Given the description of an element on the screen output the (x, y) to click on. 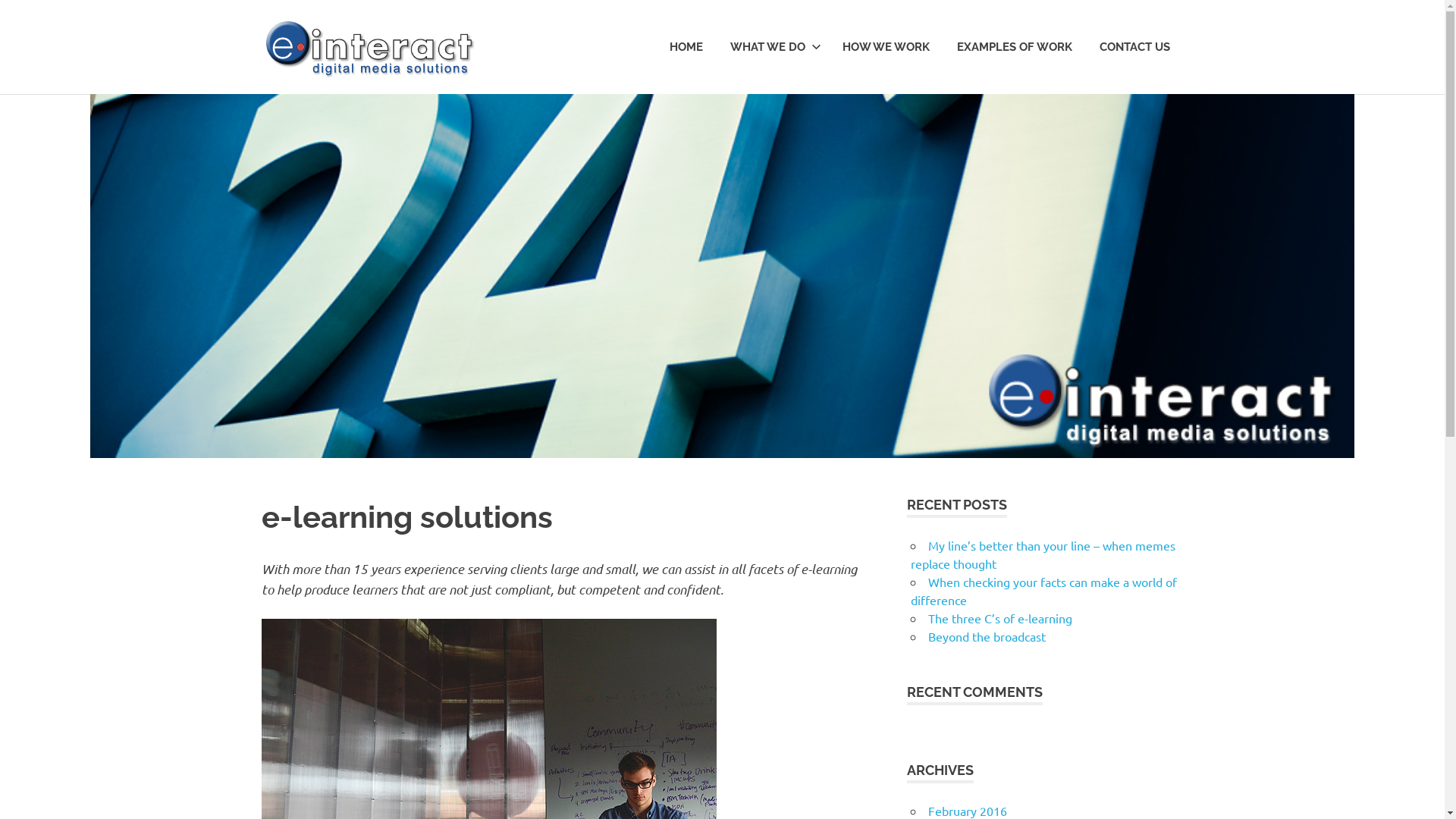
WHAT WE DO Element type: text (771, 47)
CONTACT US Element type: text (1134, 47)
HOME Element type: text (685, 47)
February 2016 Element type: text (967, 810)
EXAMPLES OF WORK Element type: text (1014, 47)
When checking your facts can make a world of difference Element type: text (1043, 590)
Beyond the broadcast Element type: text (986, 635)
HOW WE WORK Element type: text (885, 47)
